Given the description of an element on the screen output the (x, y) to click on. 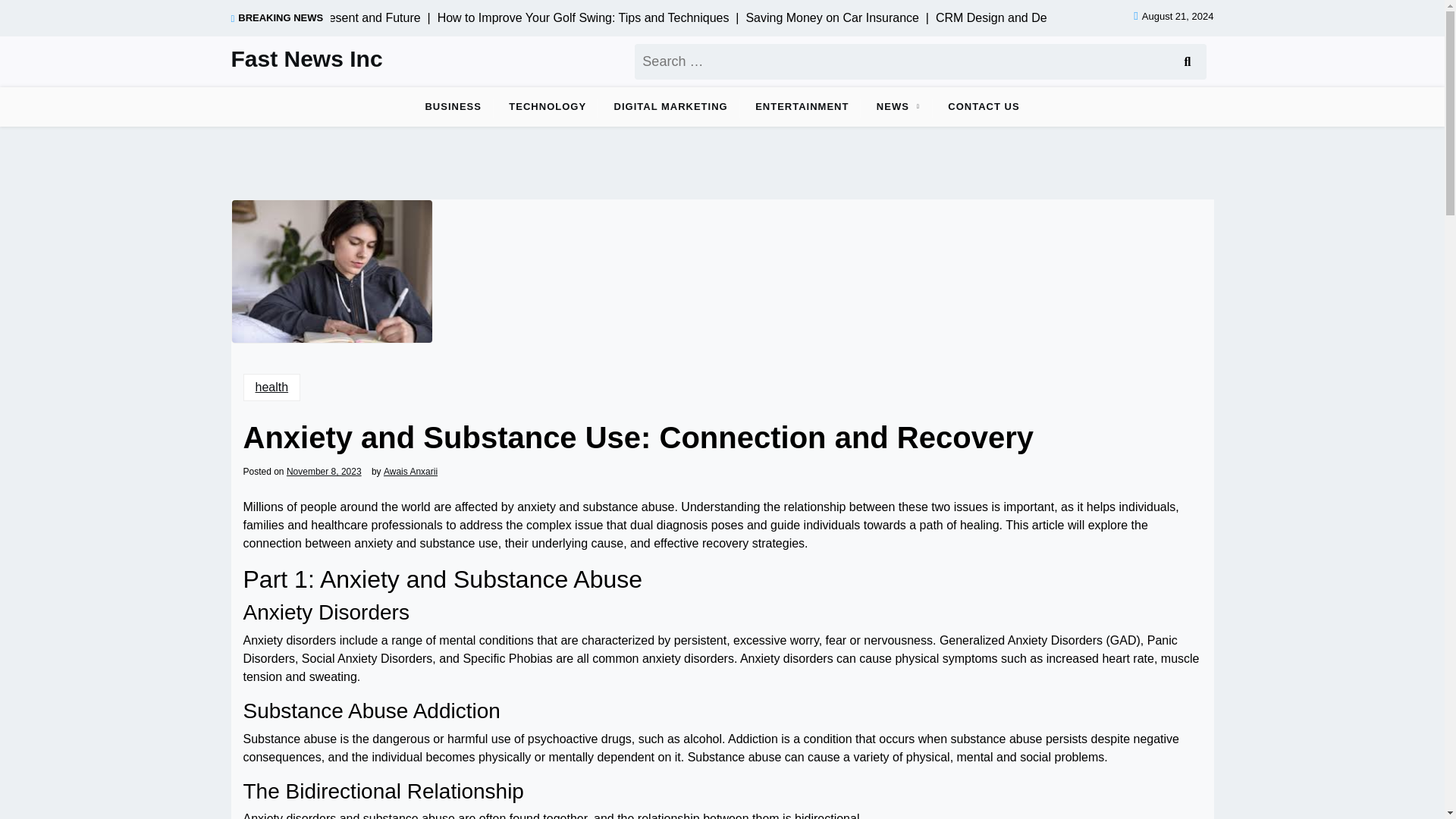
BUSINESS (452, 106)
ENTERTAINMENT (801, 106)
Fast News Inc (305, 58)
Search (1186, 61)
CONTACT US (983, 106)
Anxiety and Substance Use: Connection and Recovery (331, 271)
Search (1186, 61)
Search (1186, 61)
NEWS (892, 106)
Awais Anxarii (411, 470)
